Given the description of an element on the screen output the (x, y) to click on. 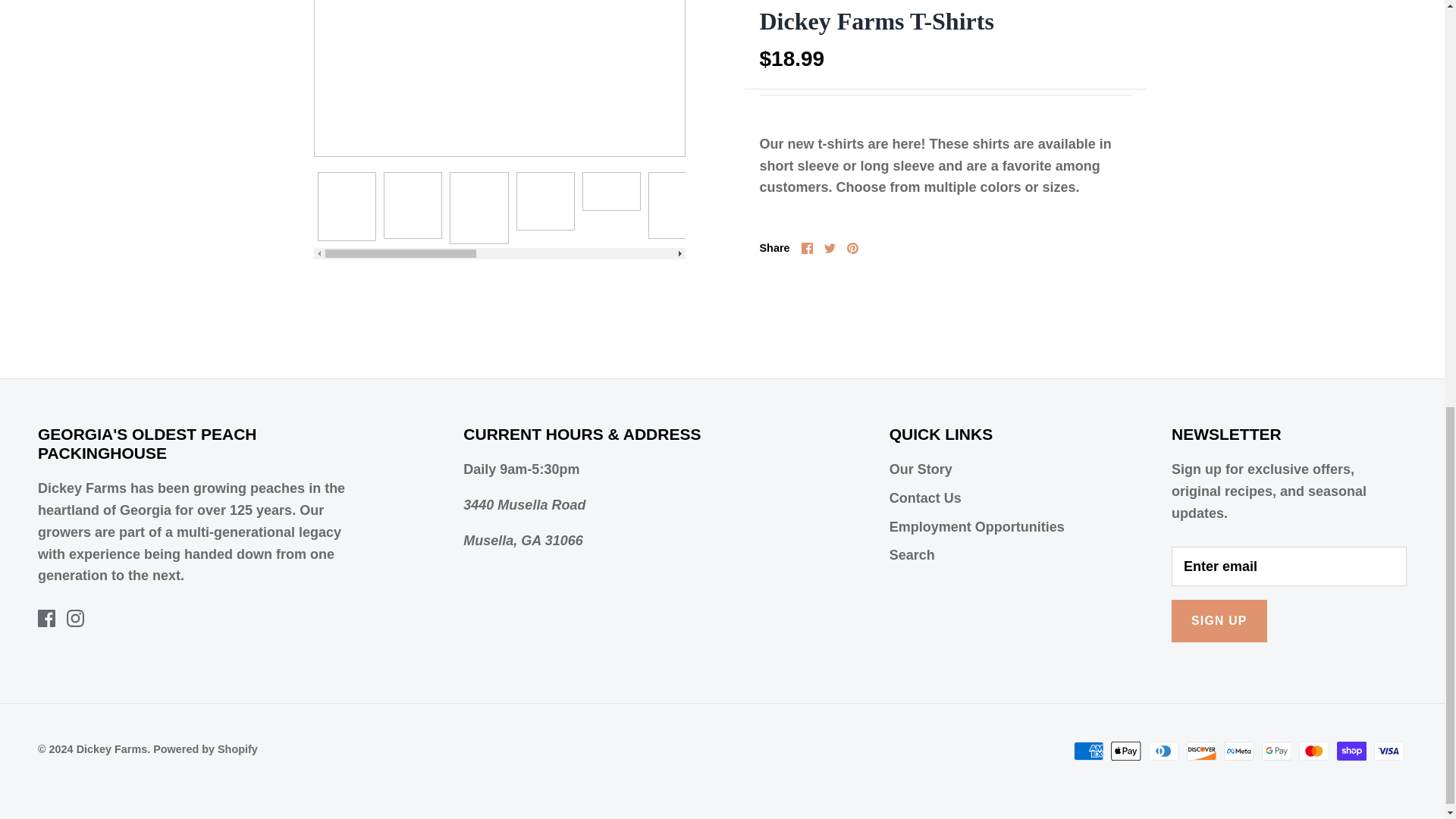
Twitter (829, 247)
Meta Pay (1238, 751)
Apple Pay (1125, 751)
American Express (1088, 751)
Add to Cart (945, 2)
Facebook (807, 247)
Facebook (46, 618)
Pinterest (853, 247)
Discover (1201, 751)
Diners Club (1163, 751)
